Given the description of an element on the screen output the (x, y) to click on. 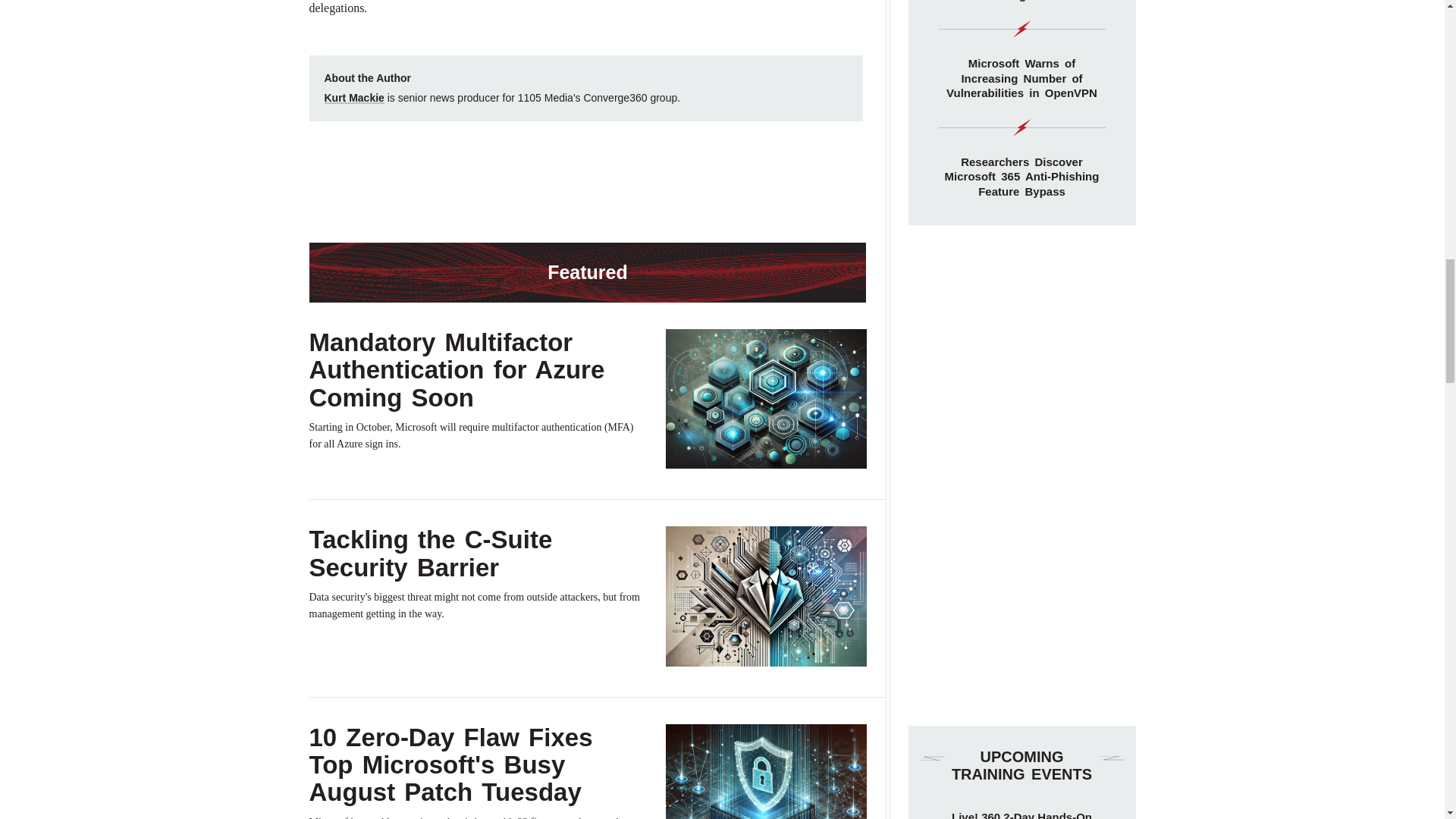
Mandatory Multifactor Authentication for Azure Coming Soon (456, 369)
Kurt Mackie (354, 97)
Tackling the C-Suite Security Barrier (430, 552)
3rd party ad content (584, 182)
